Given the description of an element on the screen output the (x, y) to click on. 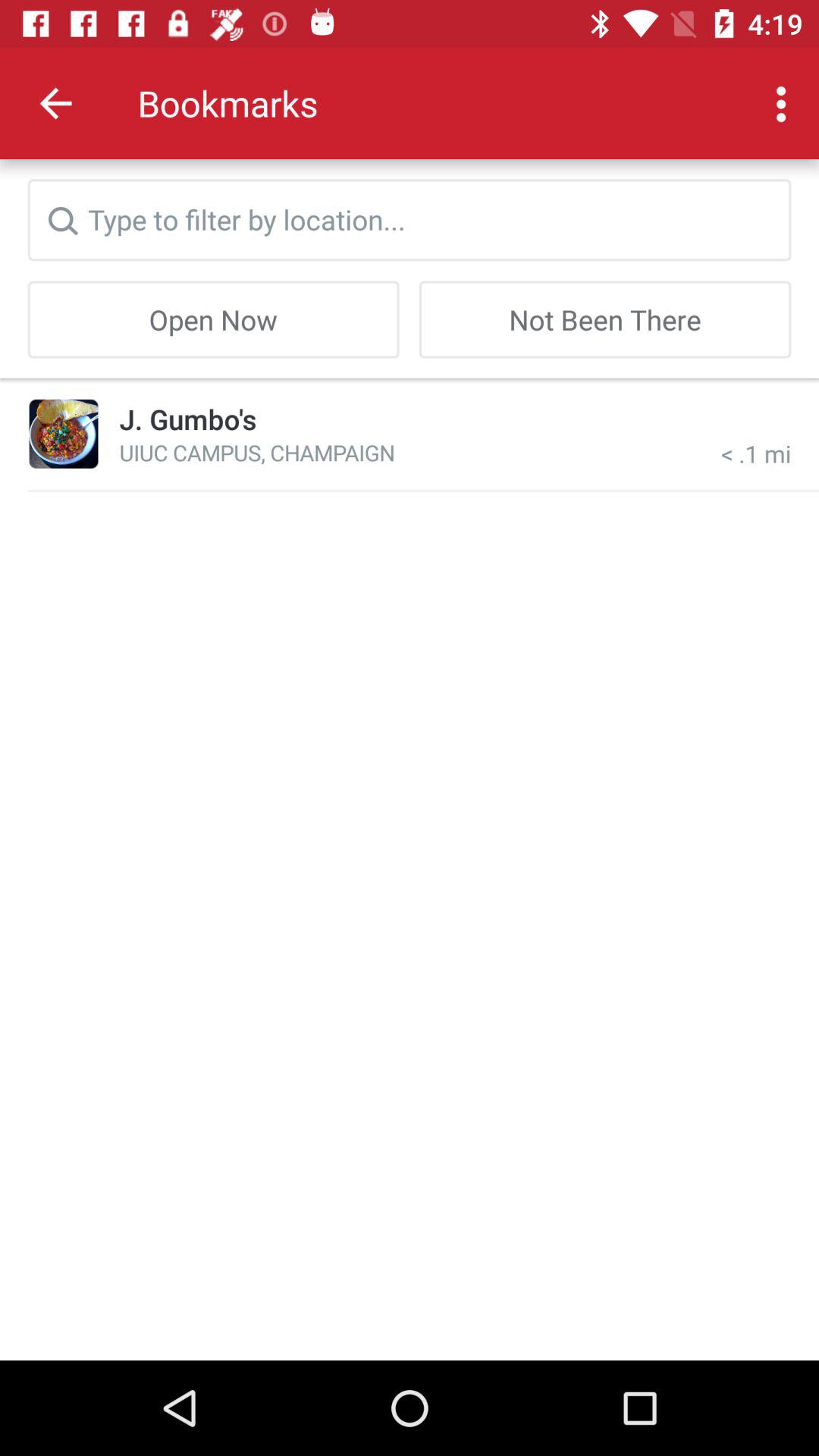
choose the item above < .1 mi item (605, 319)
